Given the description of an element on the screen output the (x, y) to click on. 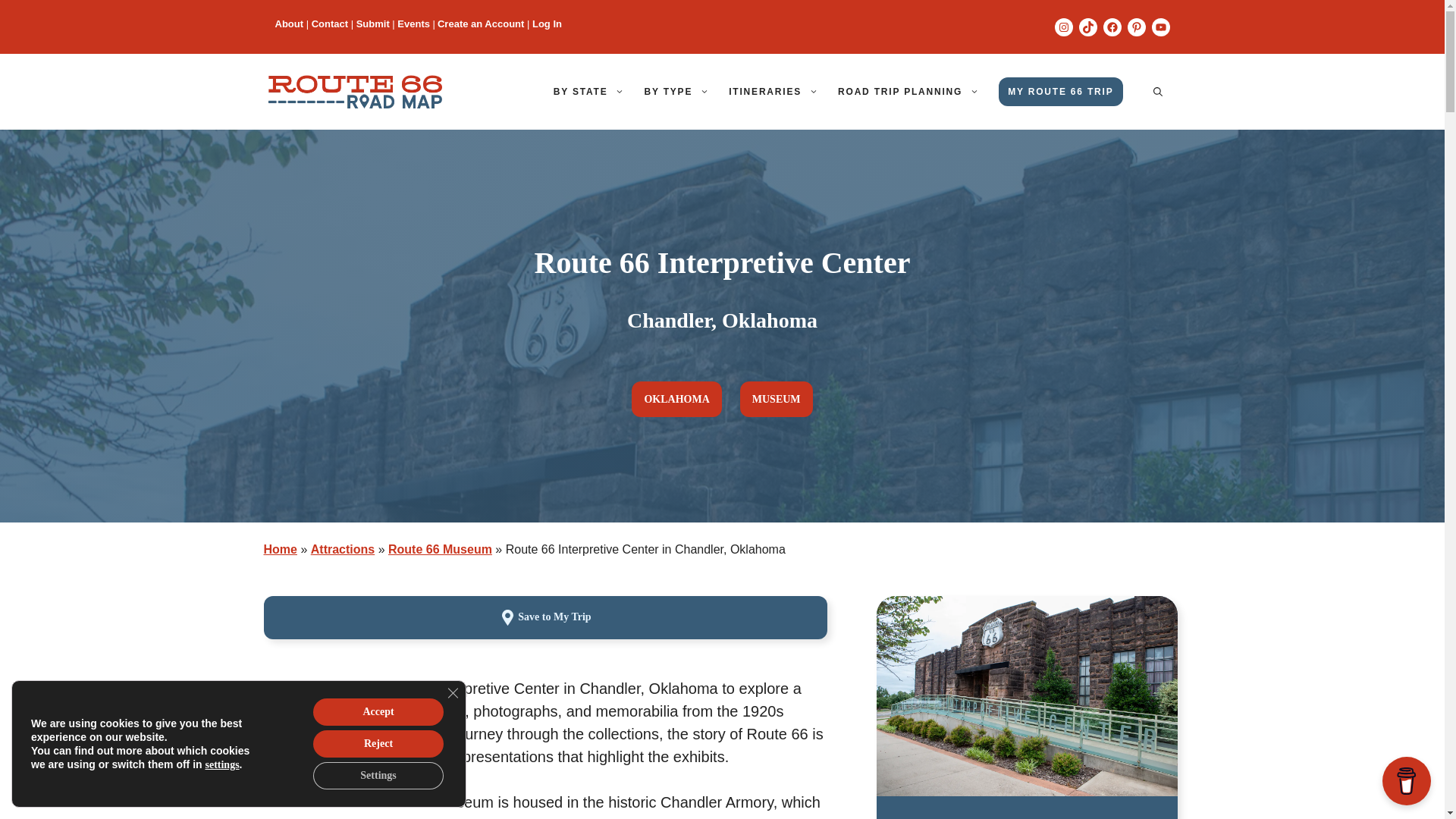
TikTok (1087, 27)
Log In (547, 23)
Facebook (1111, 27)
About (288, 23)
BY TYPE (681, 91)
YouTube (1160, 27)
Bookmark This (545, 612)
ITINERARIES (777, 91)
BY STATE (594, 91)
Create an Account (481, 23)
Contact (329, 23)
Instagram (1062, 27)
Pinterest (1135, 27)
Events (413, 23)
Submit (373, 23)
